Given the description of an element on the screen output the (x, y) to click on. 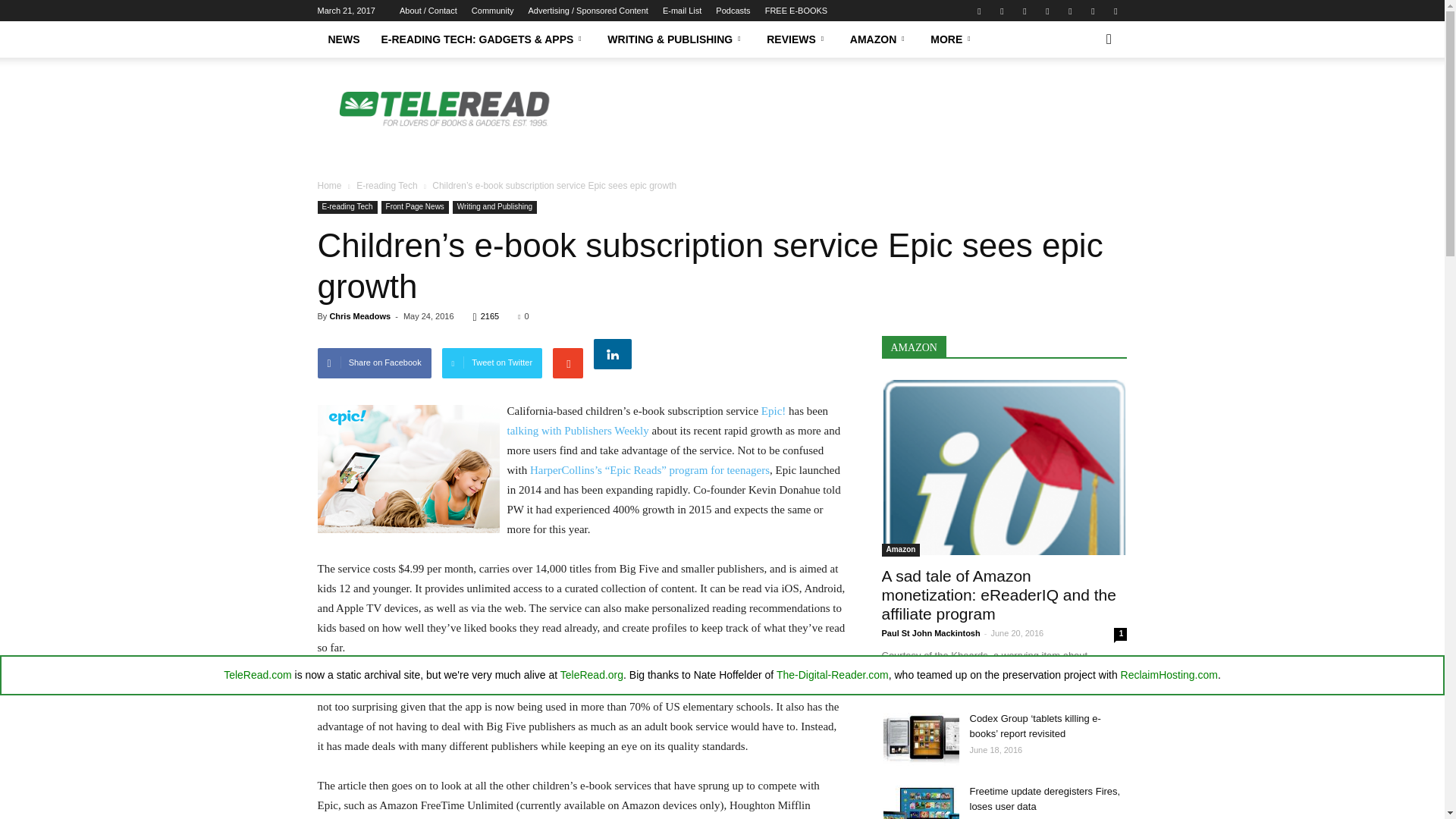
Podcasts (732, 10)
Tumblr (1092, 10)
RSS (1069, 10)
Pinterest (1046, 10)
FREE E-BOOKS (796, 10)
NEWS (343, 39)
E-mail List (681, 10)
Community (492, 10)
Facebook (979, 10)
Linkedin (1024, 10)
Twitter (1114, 10)
